Given the description of an element on the screen output the (x, y) to click on. 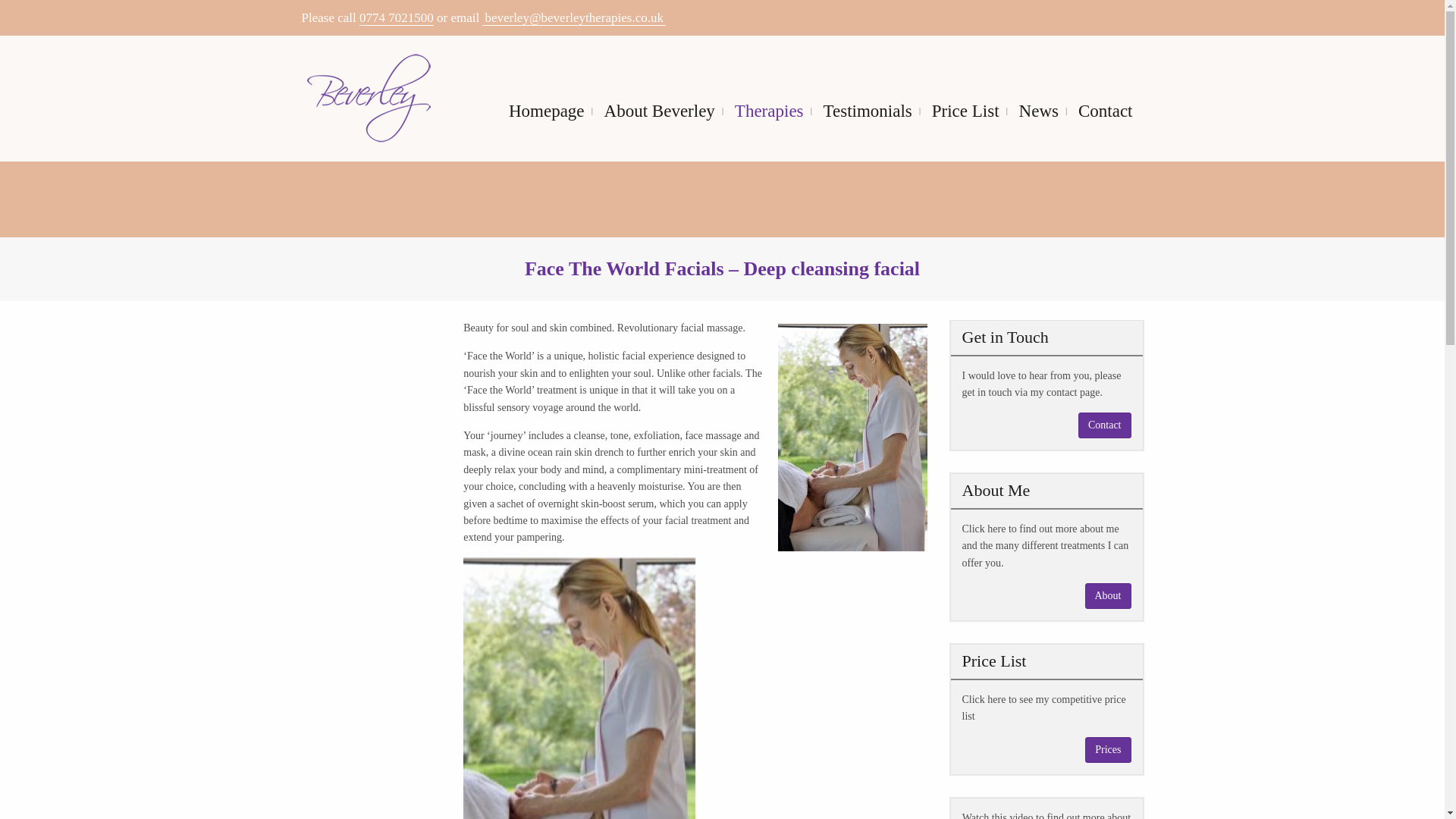
Testimonials (868, 111)
Beverley Therapies (369, 98)
Homepage (546, 111)
Price List (964, 111)
Therapies (769, 111)
About Beverley (659, 111)
Call Us - Beverley Therapies  (396, 17)
0774 7021500 (396, 17)
